Given the description of an element on the screen output the (x, y) to click on. 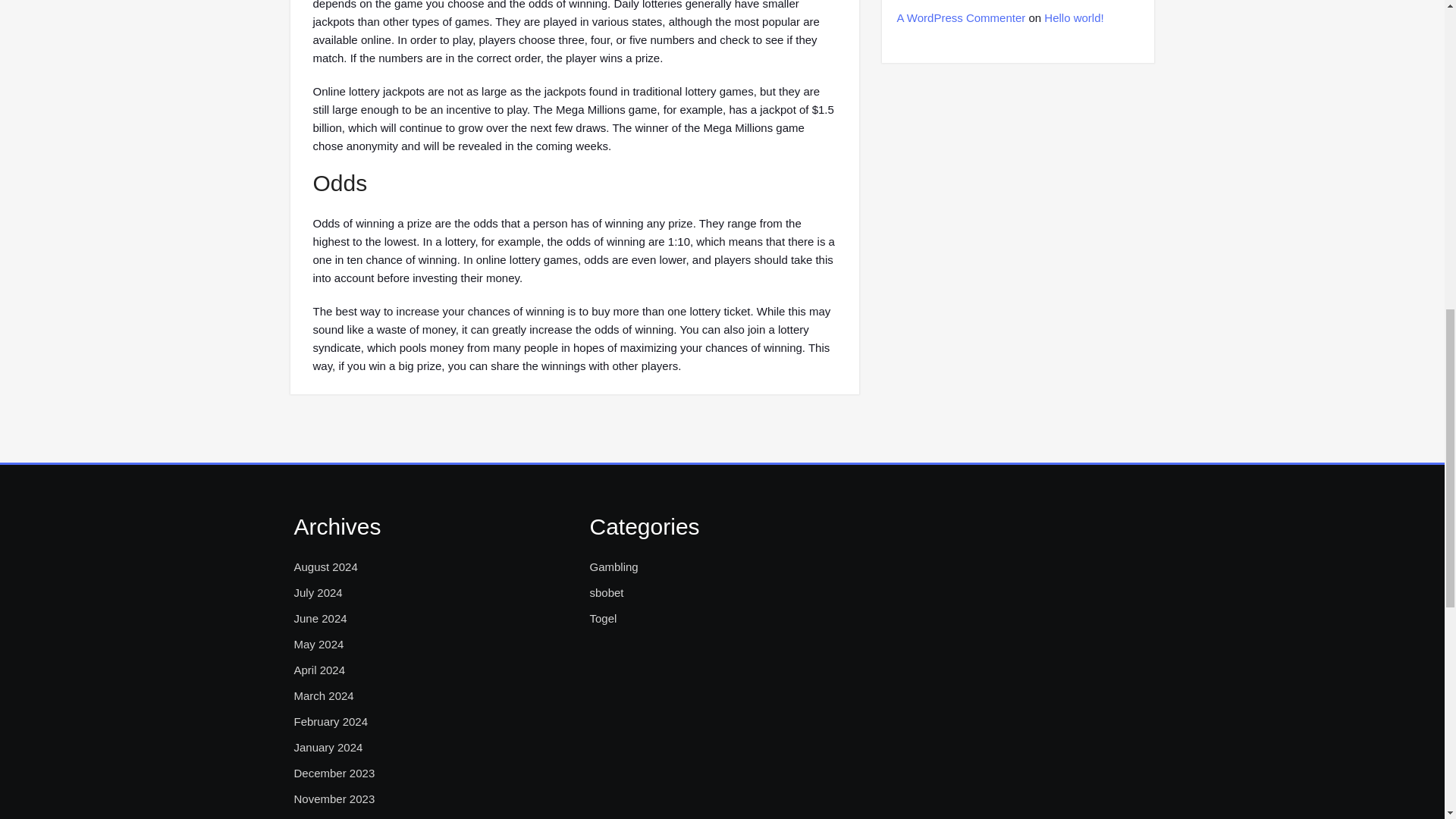
August 2024 (326, 566)
November 2023 (334, 799)
May 2024 (318, 644)
July 2024 (318, 592)
October 2023 (328, 817)
January 2024 (328, 747)
Hello world! (1073, 17)
April 2024 (320, 669)
December 2023 (334, 773)
June 2024 (320, 618)
